Given the description of an element on the screen output the (x, y) to click on. 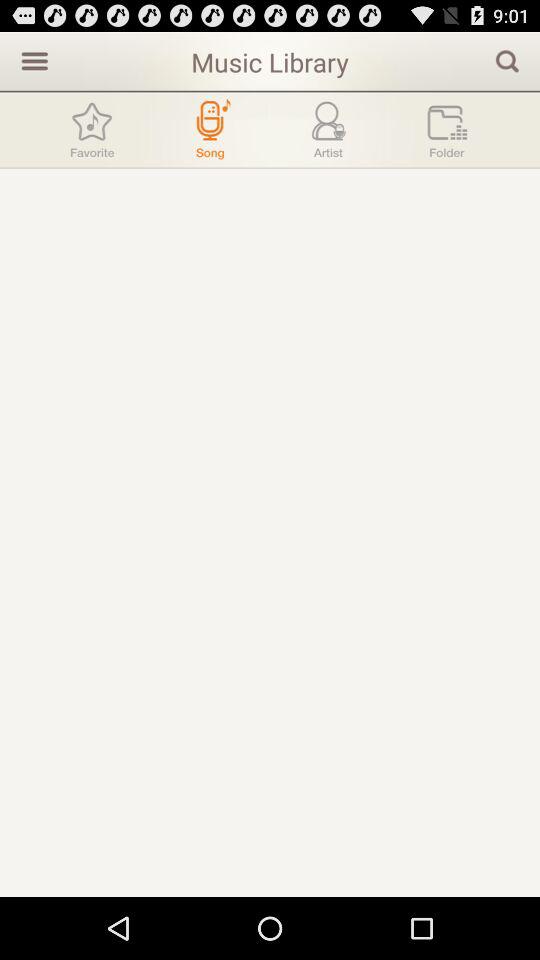
more options (32, 60)
